Given the description of an element on the screen output the (x, y) to click on. 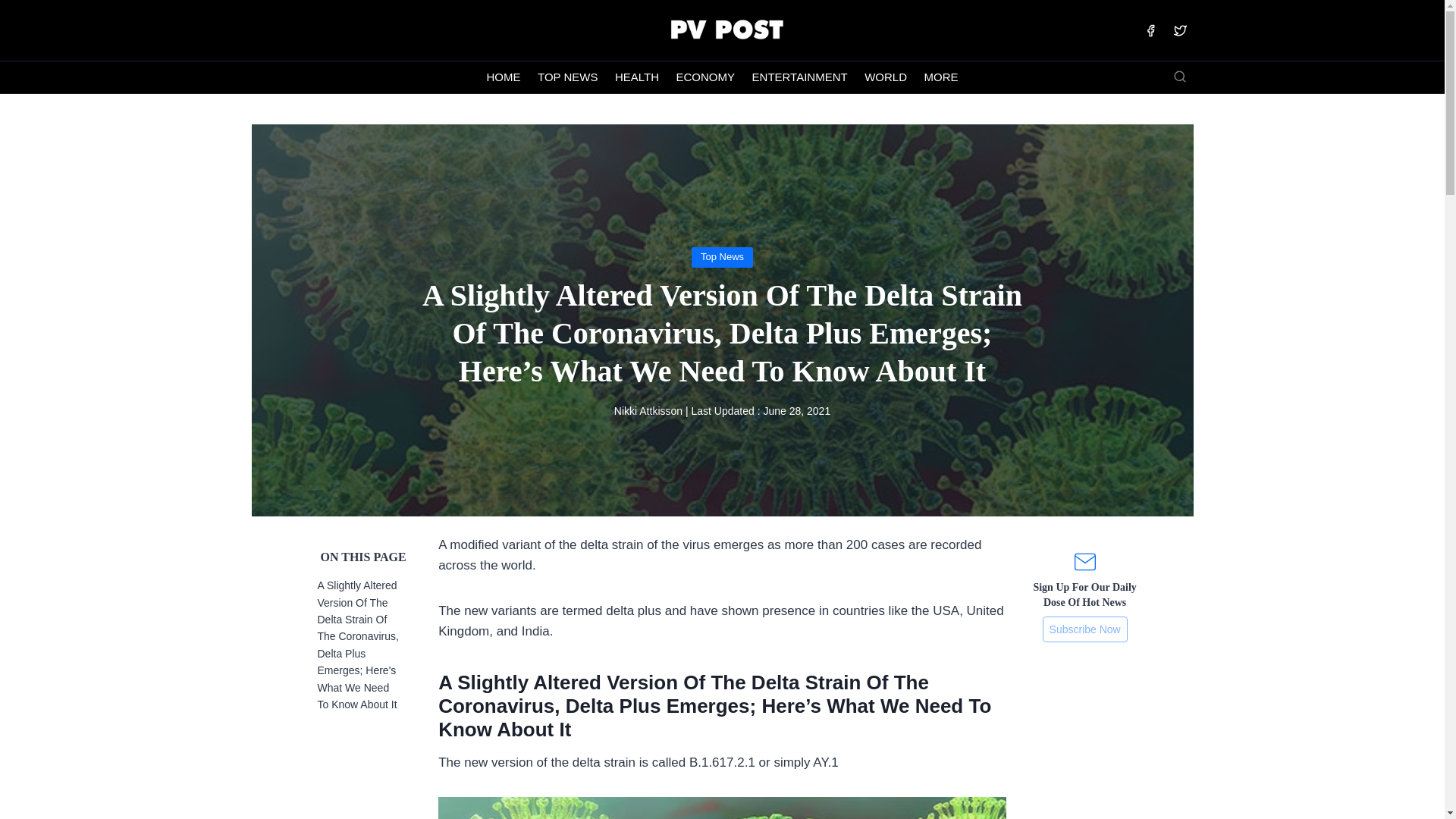
MORE (940, 77)
HOME (503, 77)
HEALTH (637, 77)
WORLD (885, 77)
ENTERTAINMENT (799, 77)
ECONOMY (704, 77)
Subscribe Now (1084, 629)
Top News (722, 256)
TOP NEWS (568, 77)
